Given the description of an element on the screen output the (x, y) to click on. 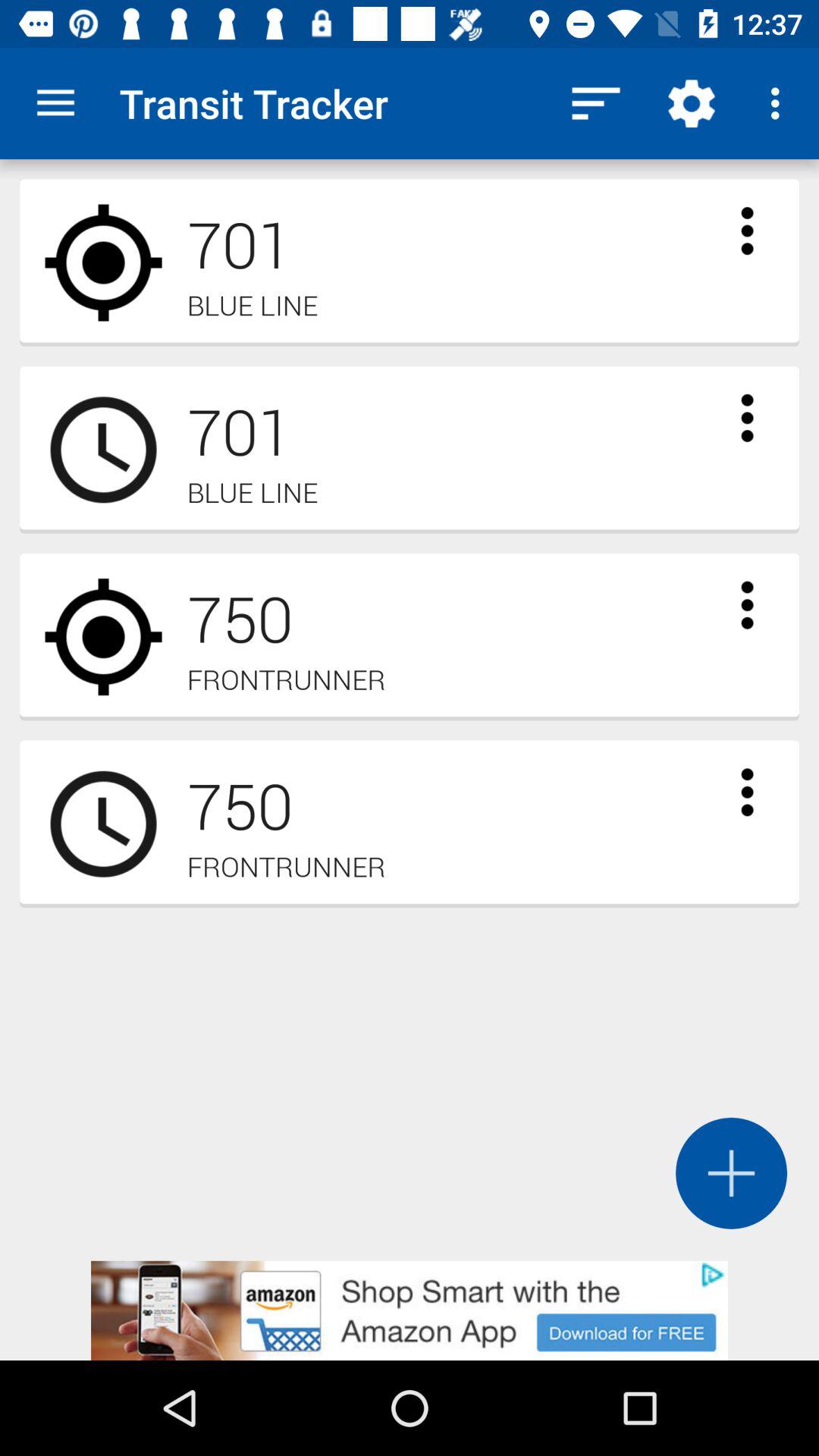
open context menu (747, 792)
